Given the description of an element on the screen output the (x, y) to click on. 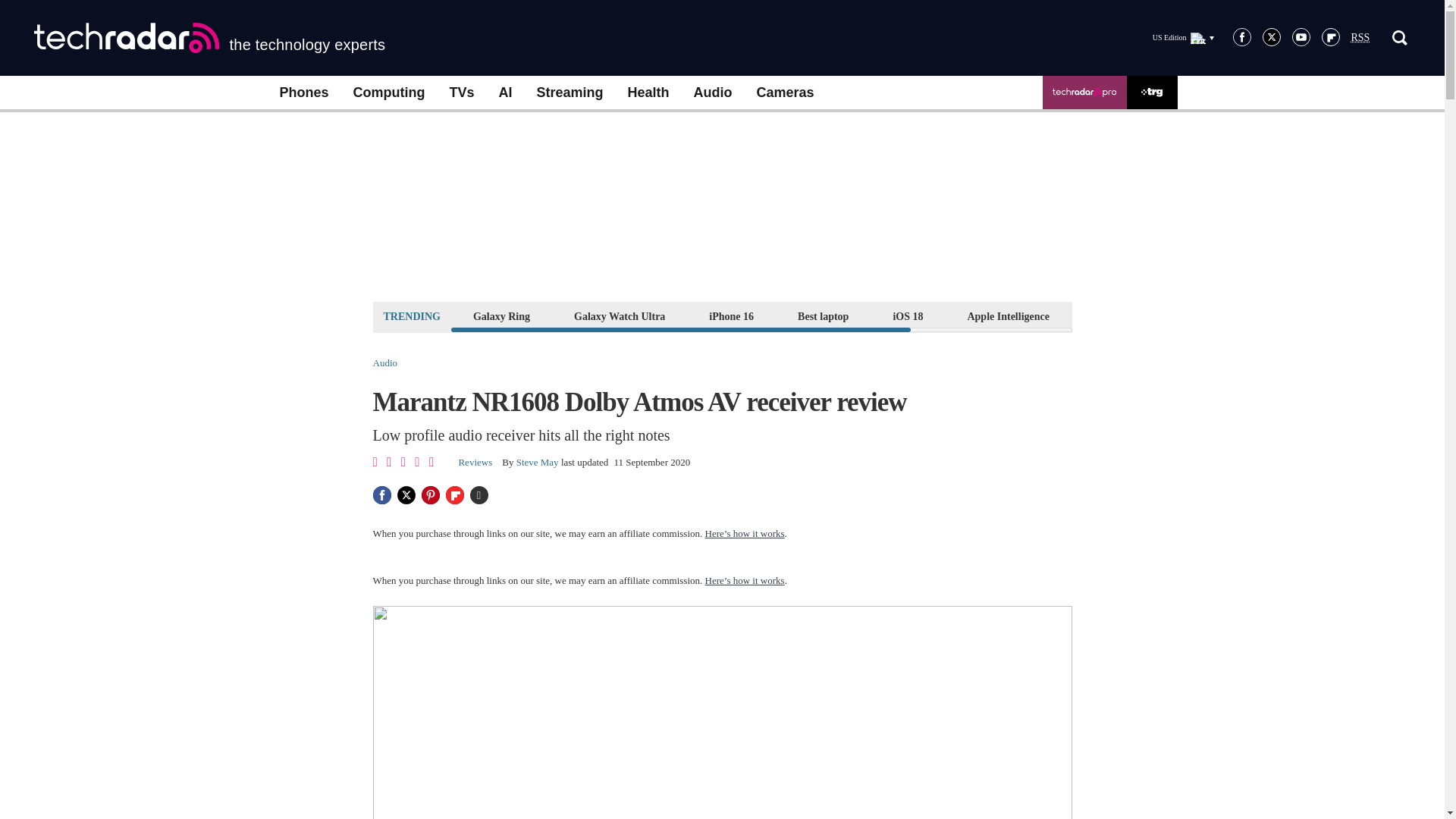
Really Simple Syndication (1360, 37)
TVs (461, 92)
Cameras (785, 92)
Health (648, 92)
Phones (303, 92)
the technology experts (209, 38)
Computing (389, 92)
Streaming (569, 92)
US Edition (1182, 37)
RSS (1360, 38)
Audio (712, 92)
AI (505, 92)
